Given the description of an element on the screen output the (x, y) to click on. 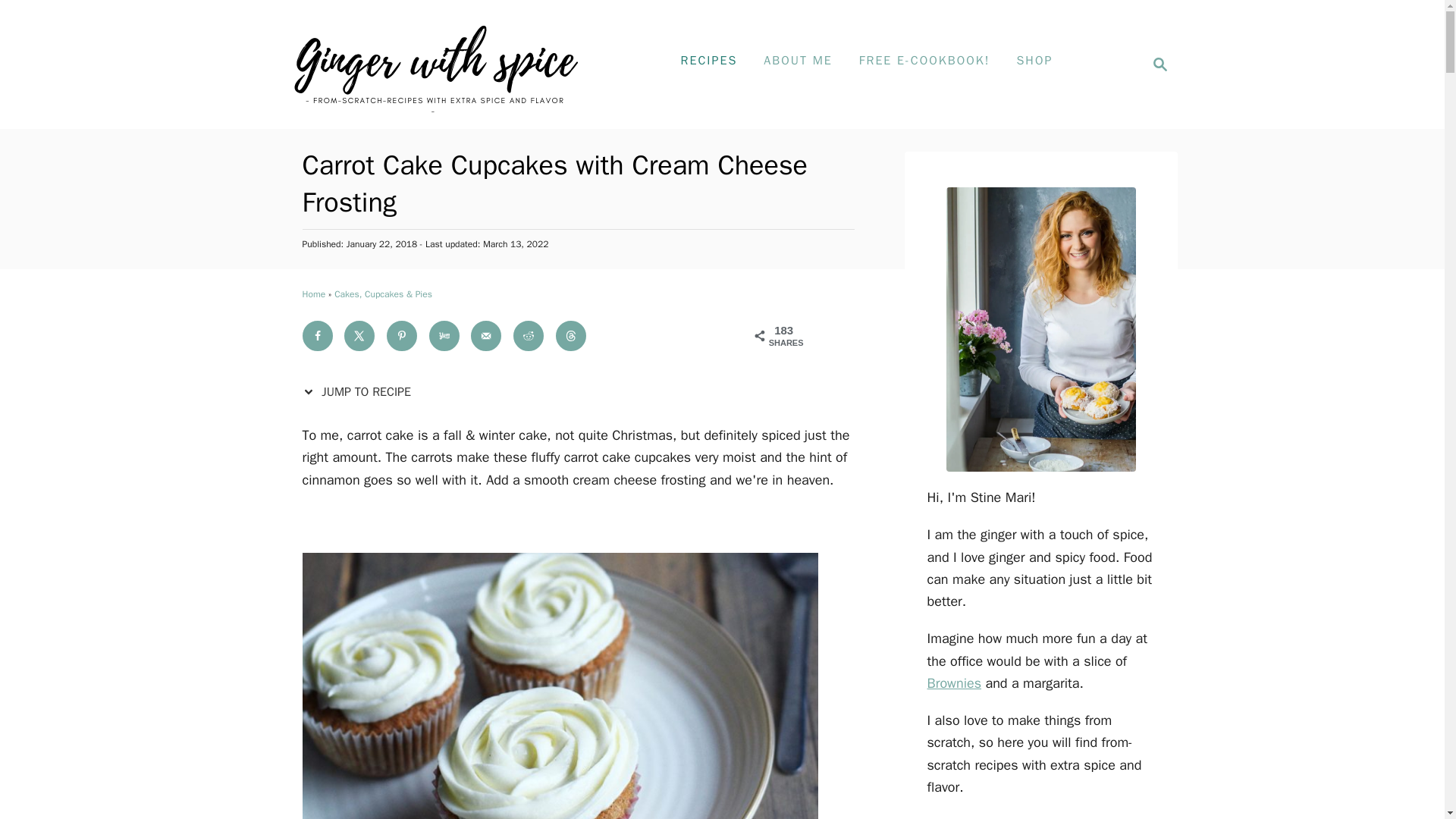
SHOP (1034, 60)
Share on X (360, 335)
Home (312, 294)
JUMP TO RECIPE (359, 391)
Save to Pinterest (403, 335)
ABOUT ME (797, 60)
Magnifying Glass (1160, 64)
Ginger with Spice (433, 64)
Share on Facebook (317, 335)
Share on Reddit (530, 335)
Share on Yummly (446, 335)
Share on Threads (1155, 64)
FREE E-COOKBOOK! (572, 335)
Send over email (924, 60)
